Given the description of an element on the screen output the (x, y) to click on. 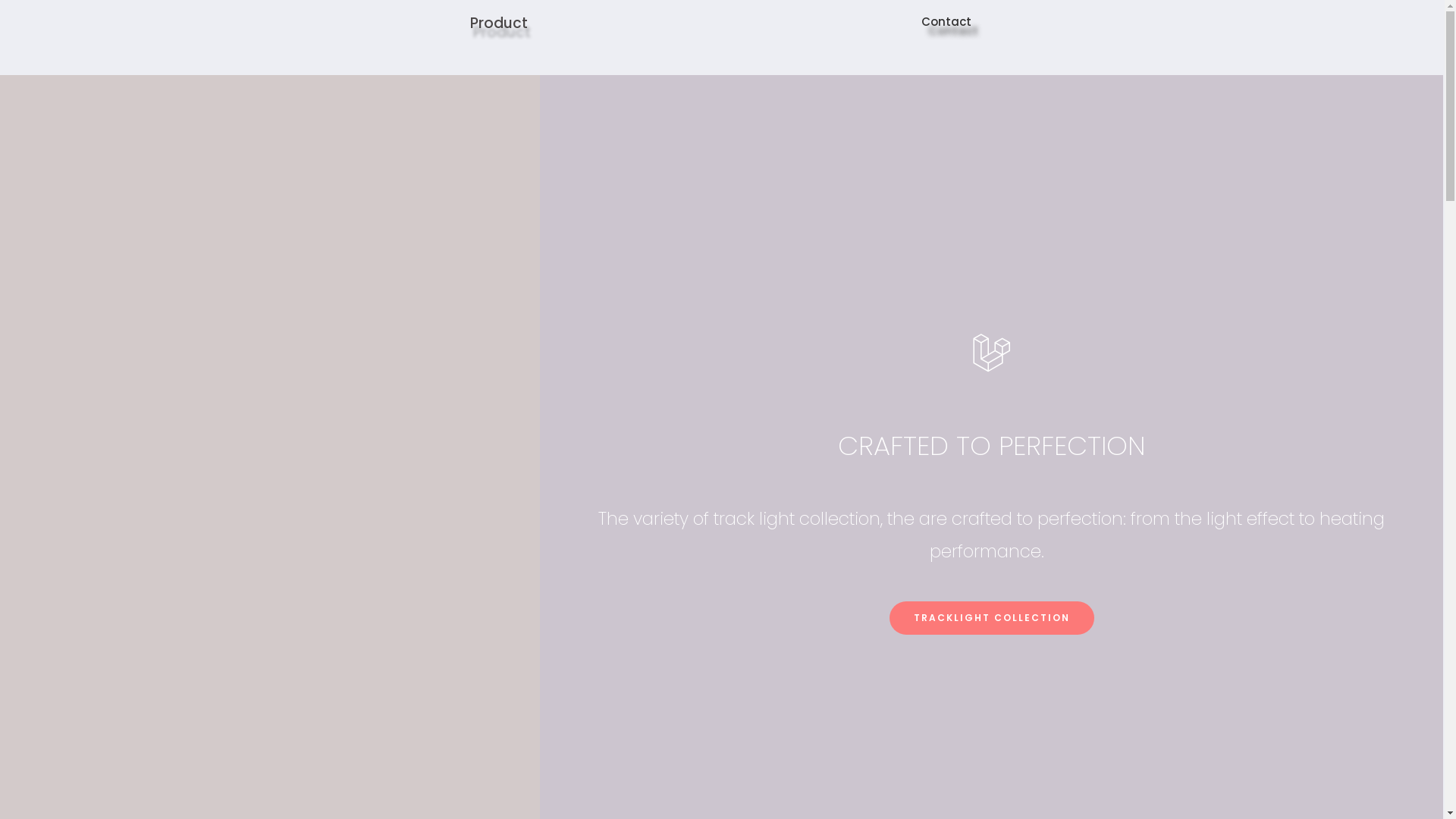
TRACKLIGHT COLLECTION Element type: text (991, 617)
Contact Element type: text (945, 21)
Product Element type: text (498, 22)
